Given the description of an element on the screen output the (x, y) to click on. 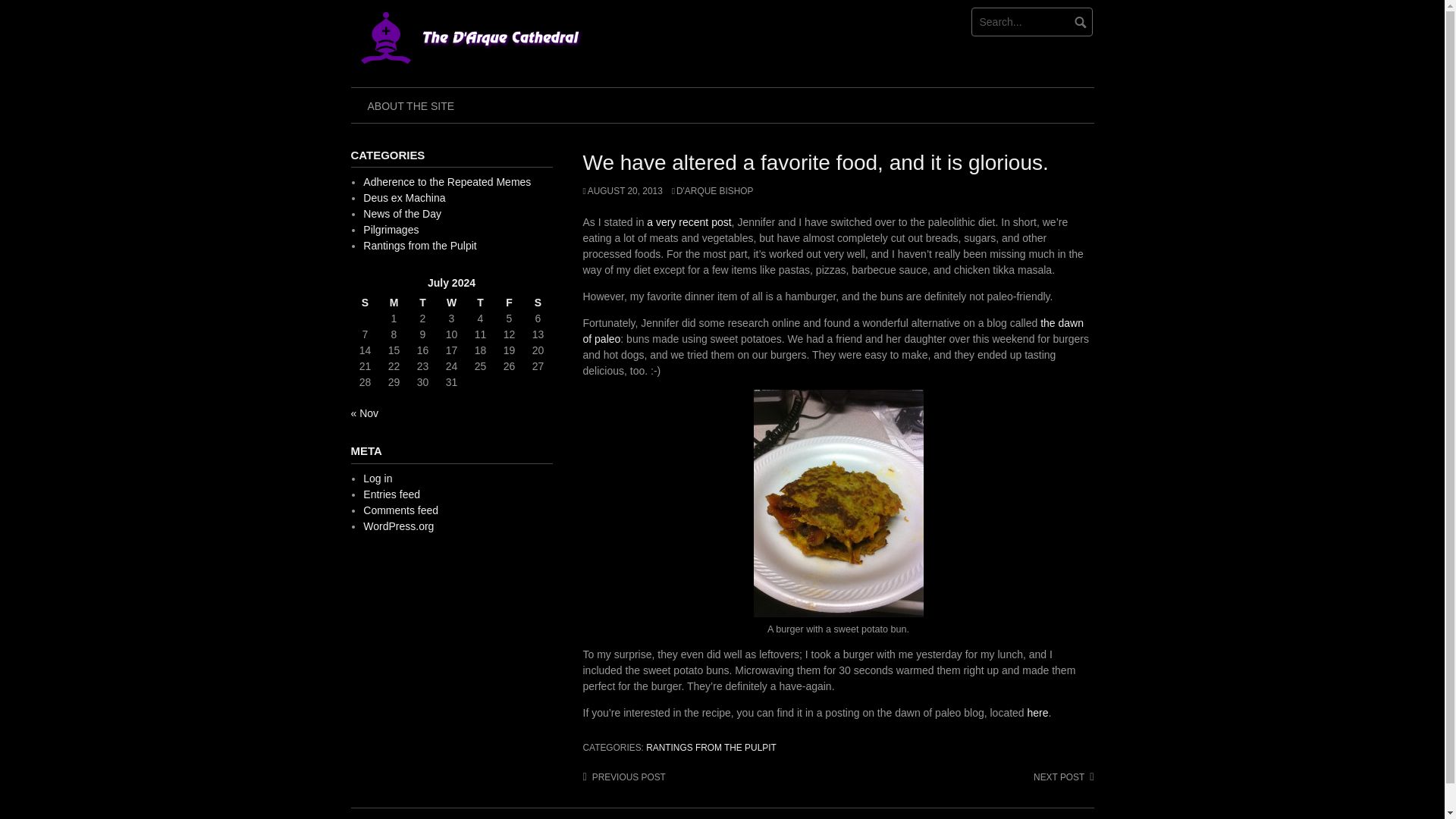
RANTINGS FROM THE PULPIT (711, 747)
WordPress.org (397, 526)
ABOUT THE SITE (410, 104)
Pilgrimages (390, 229)
the dawn of paleo (832, 330)
a very recent post (688, 222)
Friday (508, 302)
Rantings from the Pulpit (419, 245)
here (1037, 712)
News of the Day (401, 214)
Comments feed (400, 510)
Log in (376, 478)
Tuesday (421, 302)
Saturday (536, 302)
Thursday (480, 302)
